Given the description of an element on the screen output the (x, y) to click on. 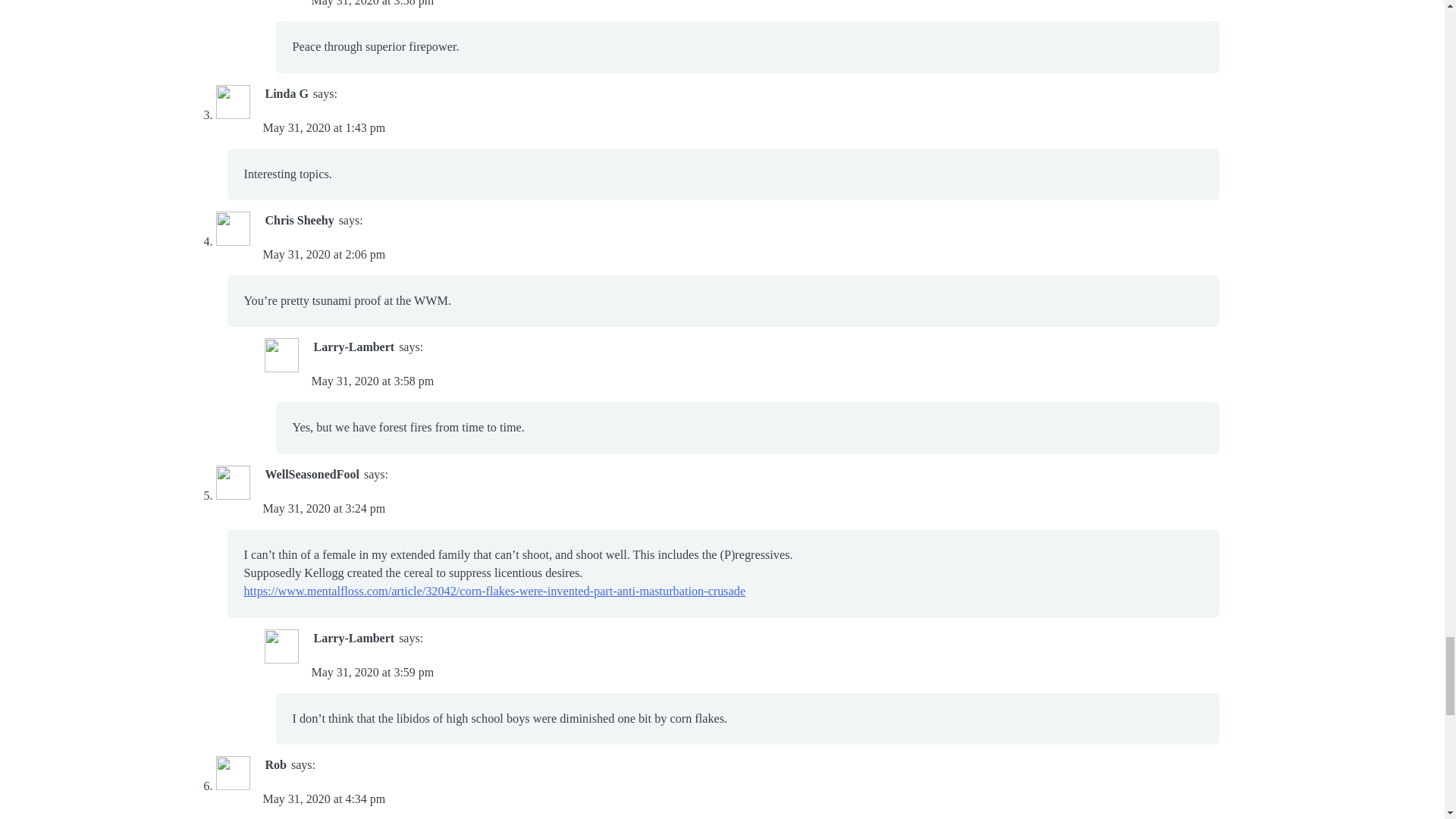
May 31, 2020 at 3:59 pm (372, 671)
May 31, 2020 at 3:24 pm (323, 508)
May 31, 2020 at 4:34 pm (323, 798)
May 31, 2020 at 2:06 pm (323, 254)
Linda G (286, 92)
May 31, 2020 at 3:58 pm (372, 3)
WellSeasonedFool (311, 473)
May 31, 2020 at 3:58 pm (372, 380)
May 31, 2020 at 1:43 pm (323, 127)
